Given the description of an element on the screen output the (x, y) to click on. 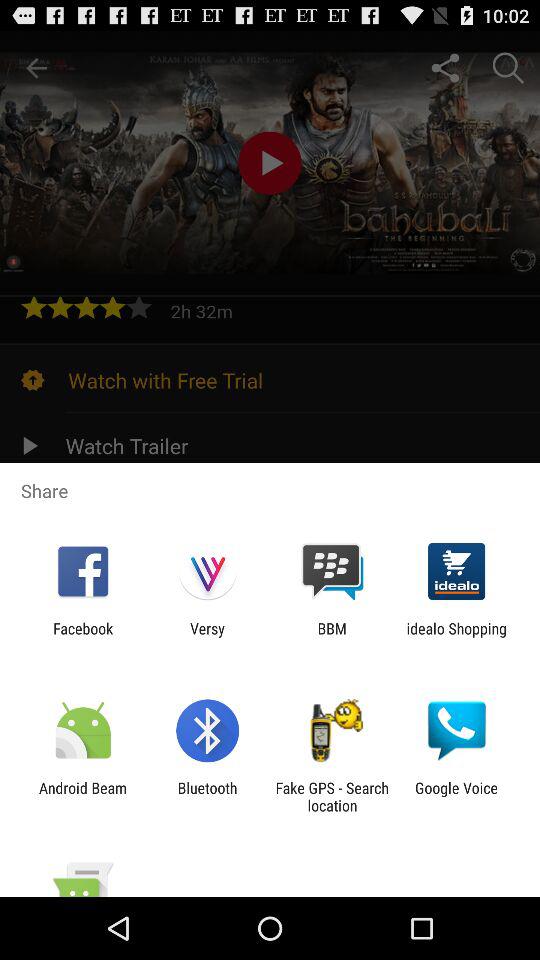
launch the icon to the right of the facebook icon (207, 637)
